Given the description of an element on the screen output the (x, y) to click on. 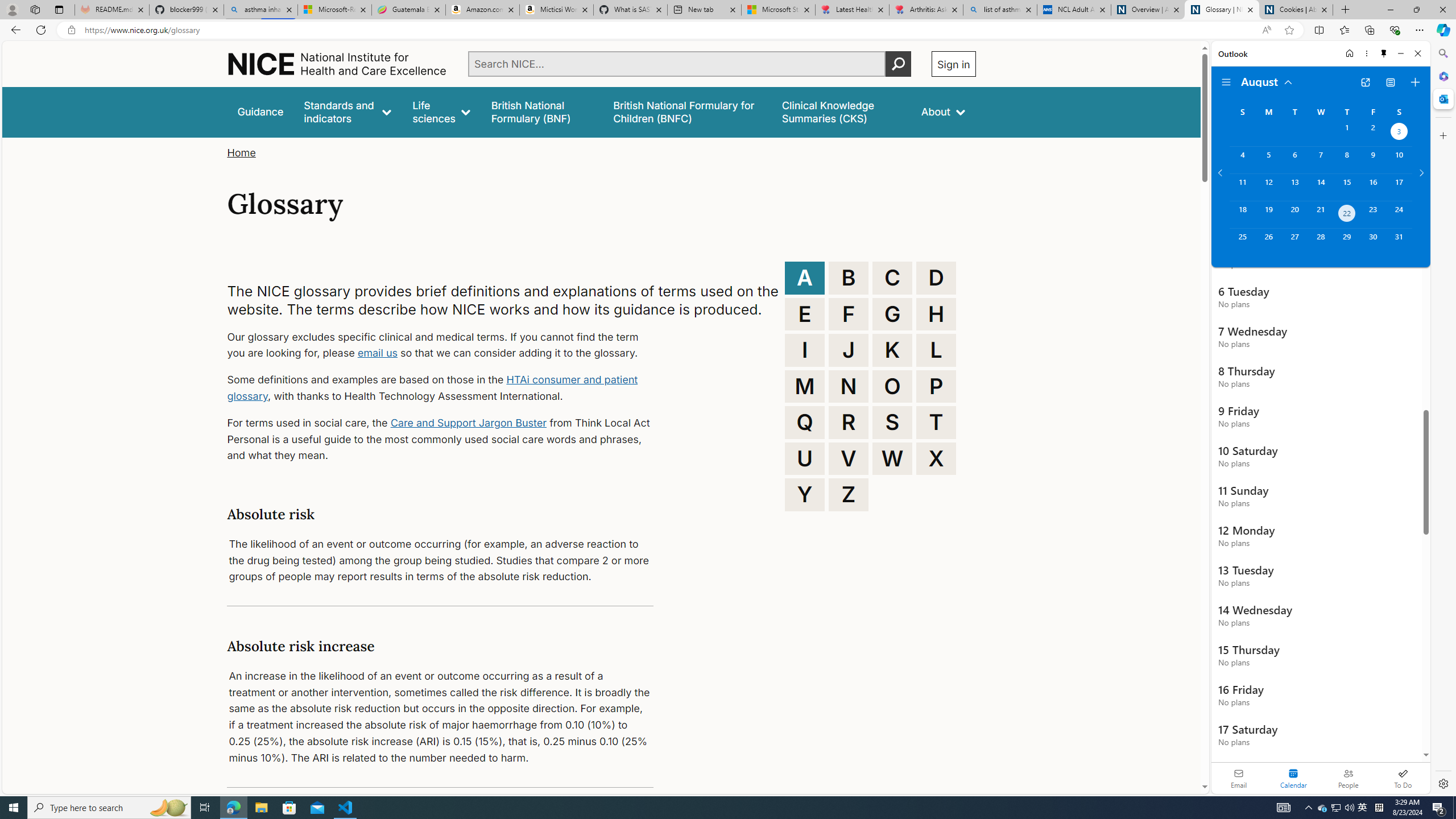
Thursday, August 8, 2024.  (1346, 159)
Z (848, 494)
Monday, August 19, 2024.  (1268, 214)
Friday, August 9, 2024.  (1372, 159)
W (892, 458)
Selected calendar module. Date today is 22 (1293, 777)
Thursday, August 22, 2024. Today.  (1346, 214)
K (892, 350)
J (848, 350)
Monday, August 26, 2024.  (1268, 241)
